Given the description of an element on the screen output the (x, y) to click on. 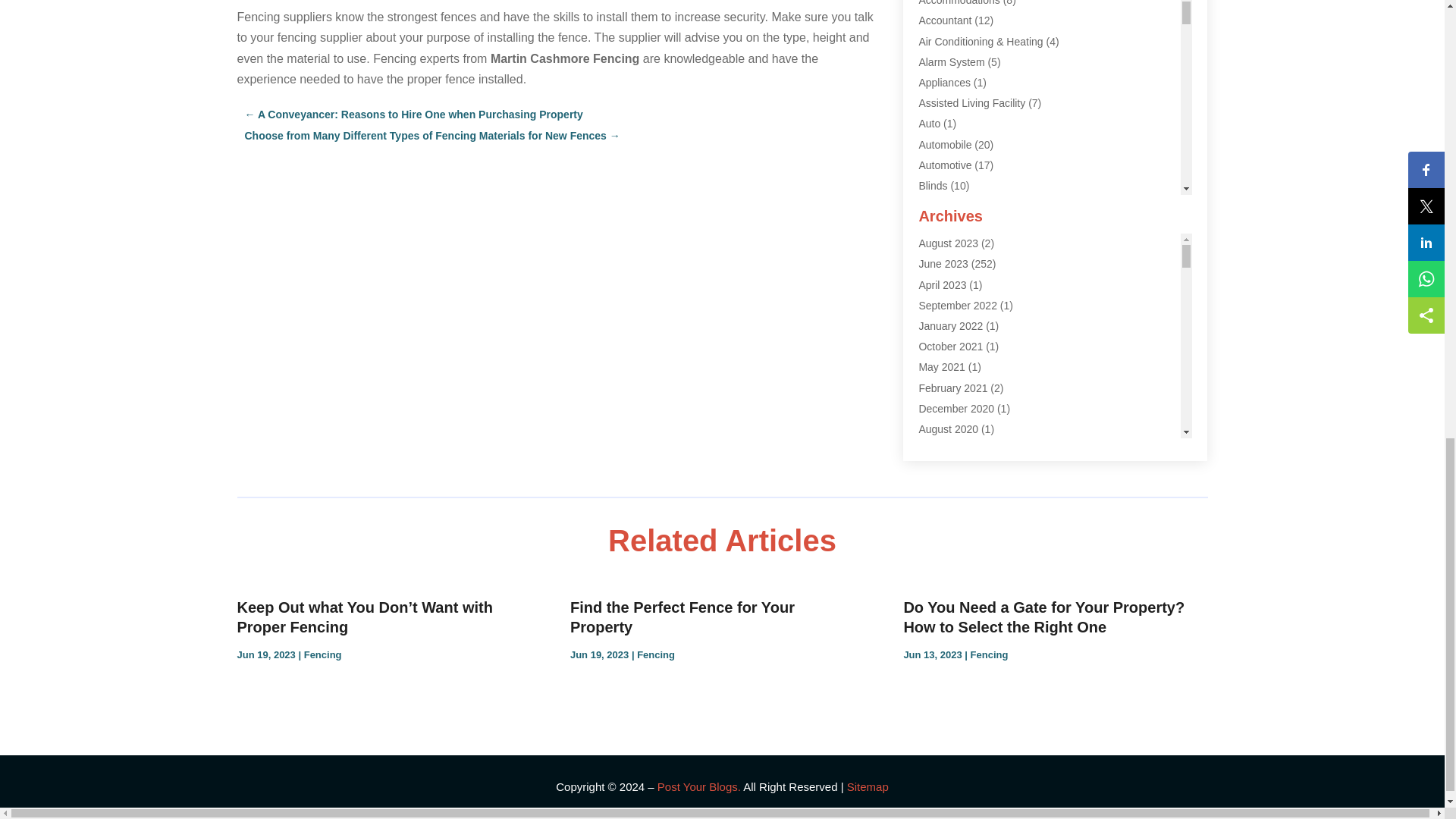
Alarm System (951, 61)
Catholic School (954, 309)
Blinds (932, 185)
Business (939, 226)
Accountant (944, 20)
Chiropractor (947, 329)
Car Hire (938, 247)
Carpet Cleaning Service (975, 288)
Assisted Living Facility (971, 102)
Automobile (944, 144)
Auto (929, 123)
Automotive (944, 164)
Accommodations (958, 2)
Builders (937, 205)
Appliances (944, 82)
